Given the description of an element on the screen output the (x, y) to click on. 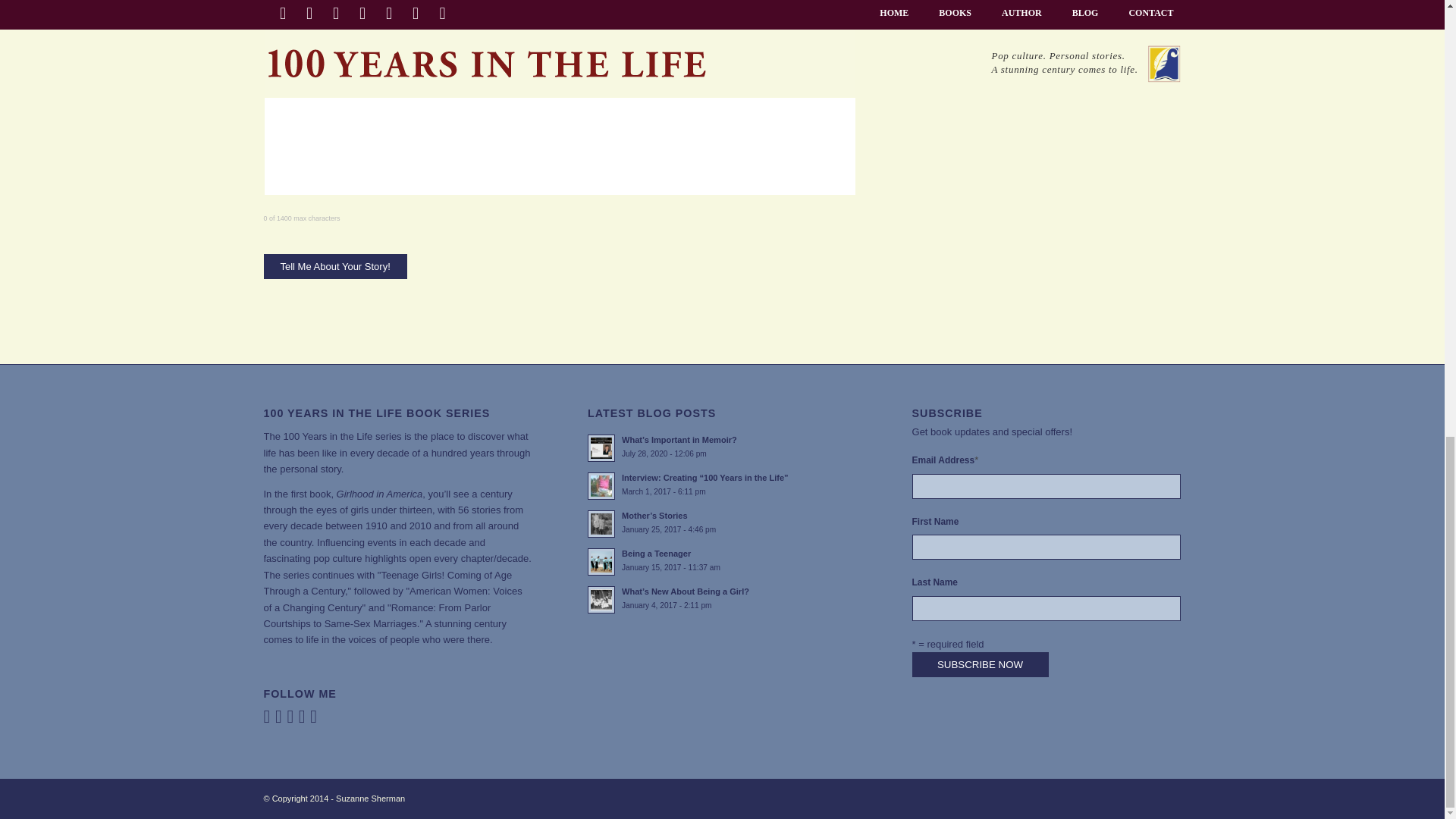
Tell Me About Your Story! (335, 266)
SUBSCRIBE NOW (722, 560)
SUBSCRIBE NOW (980, 664)
Tell Me About Your Story! (980, 664)
Suzanne Sherman (335, 266)
Table of Contents (370, 798)
